Given the description of an element on the screen output the (x, y) to click on. 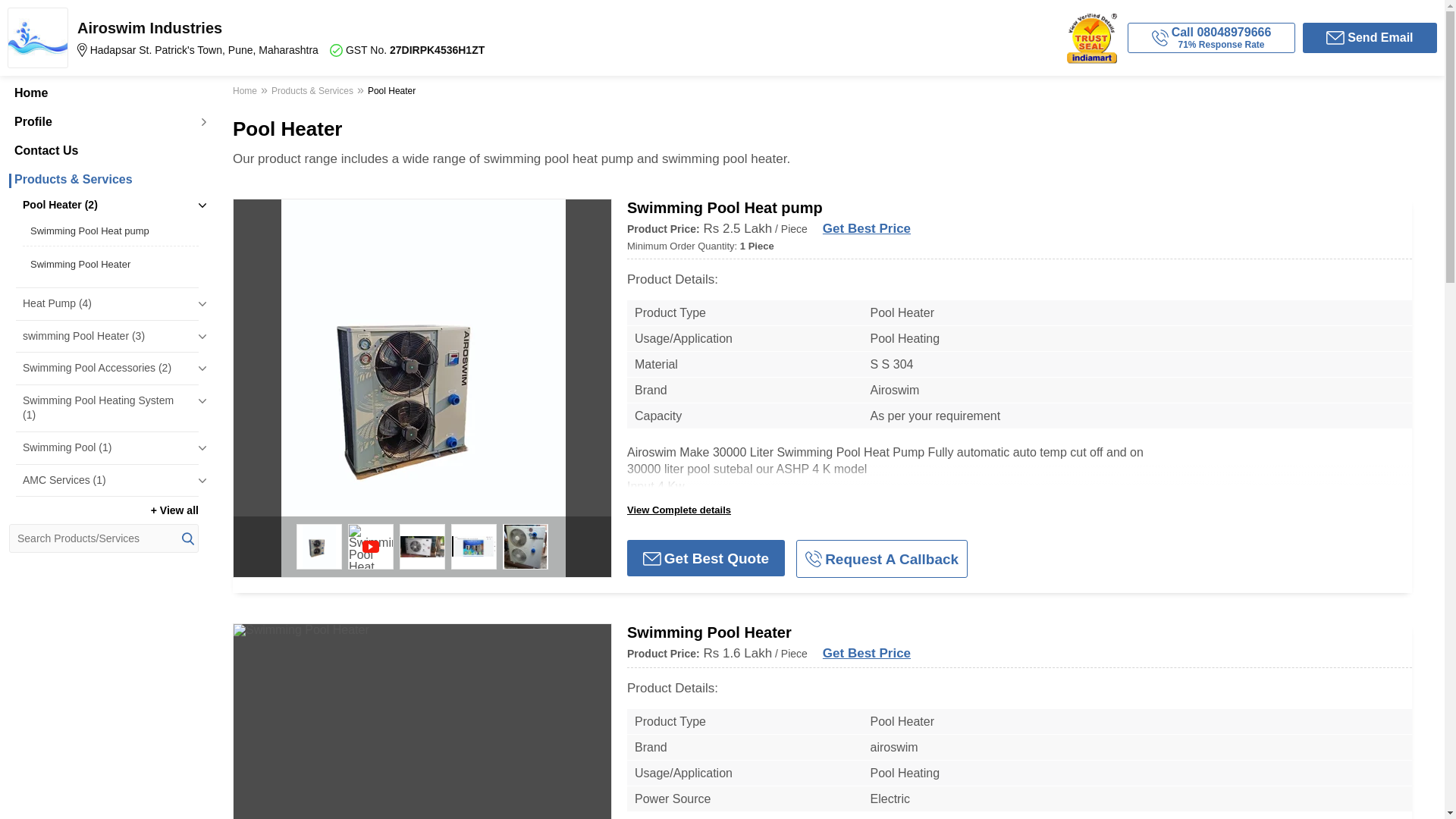
Home (246, 92)
Home (103, 92)
Swimming Pool Heat pump (110, 231)
Profile (103, 121)
Contact Us (103, 150)
Swimming Pool Heater (110, 264)
